Given the description of an element on the screen output the (x, y) to click on. 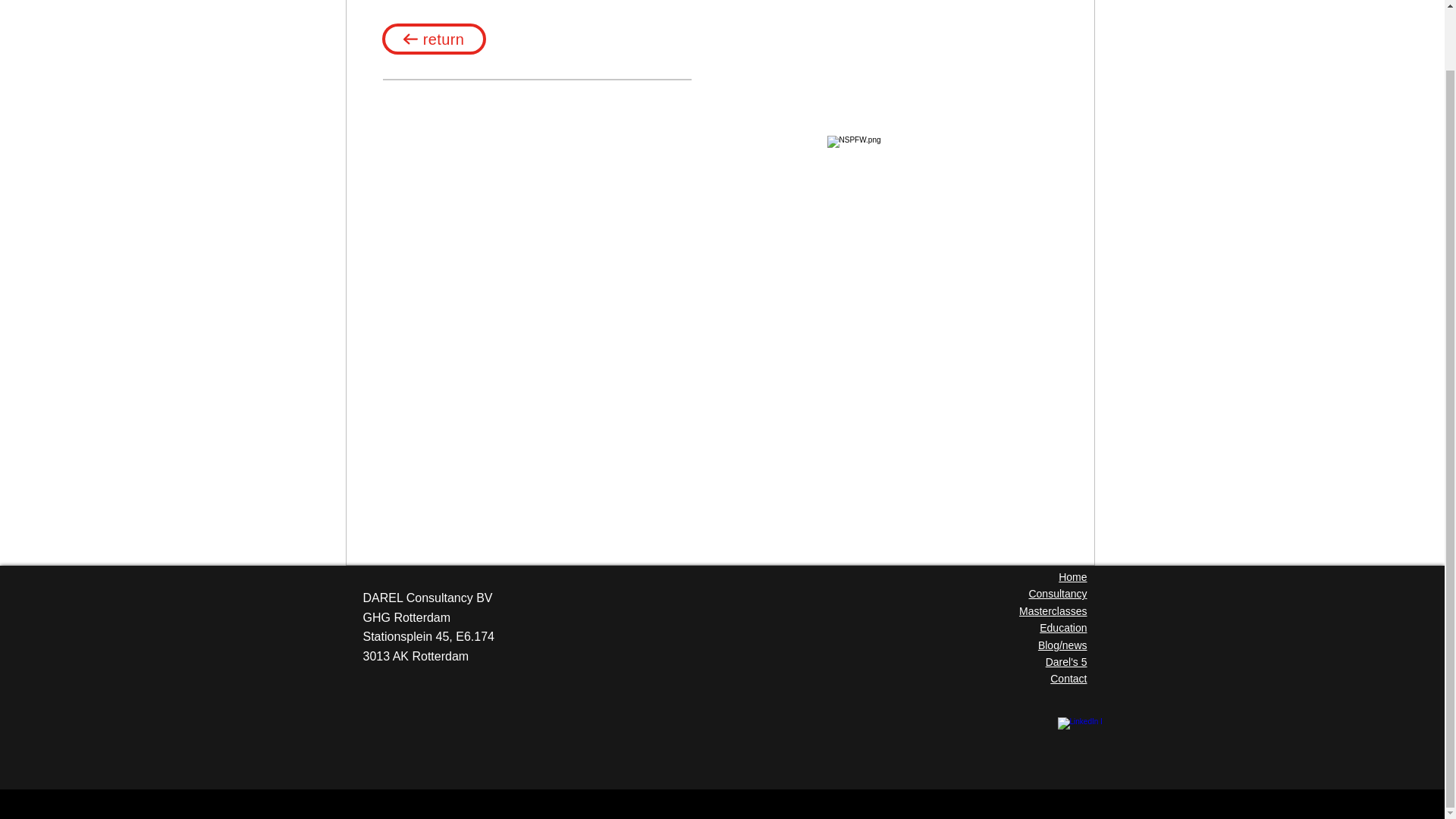
Consultancy (1056, 593)
Masterclasses (1052, 611)
Darel's 5 (1066, 662)
Contact (1067, 678)
EnergyStock.jpg (923, 194)
return (433, 38)
Home (1072, 576)
Education (1062, 627)
